Given the description of an element on the screen output the (x, y) to click on. 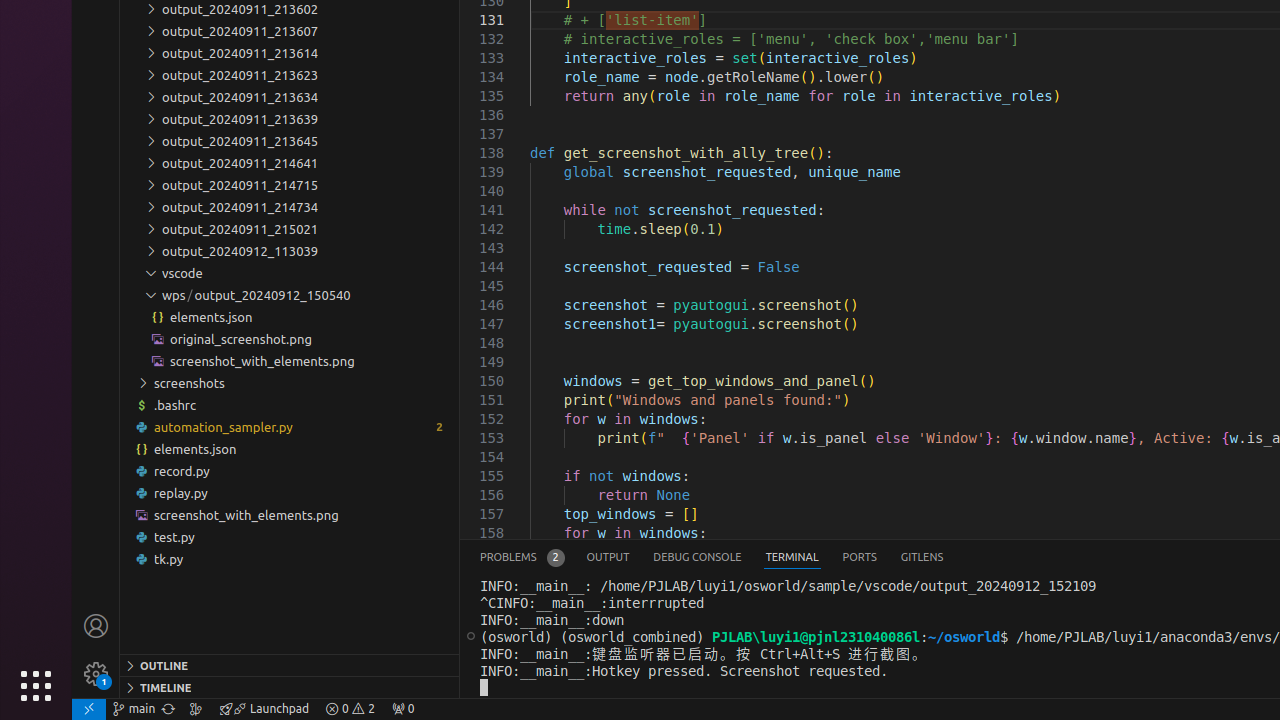
remote Element type: push-button (89, 709)
record.py Element type: tree-item (289, 470)
output_20240911_214715 Element type: tree-item (289, 184)
Terminal (Ctrl+`) Element type: page-tab (792, 557)
output_20240912_150540, compact, wps Element type: tree-item (272, 295)
